Given the description of an element on the screen output the (x, y) to click on. 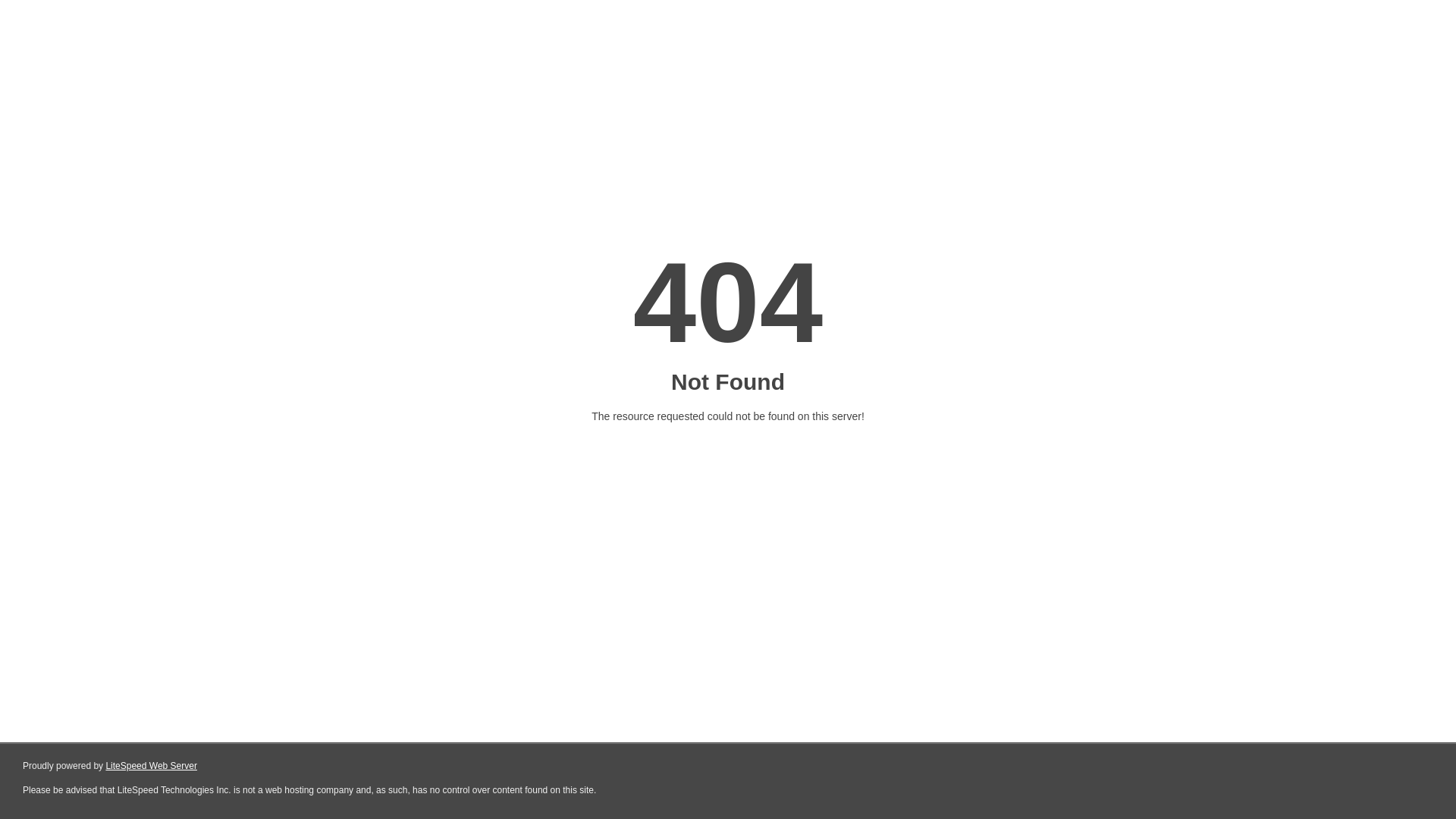
LiteSpeed Web Server Element type: text (151, 765)
